Given the description of an element on the screen output the (x, y) to click on. 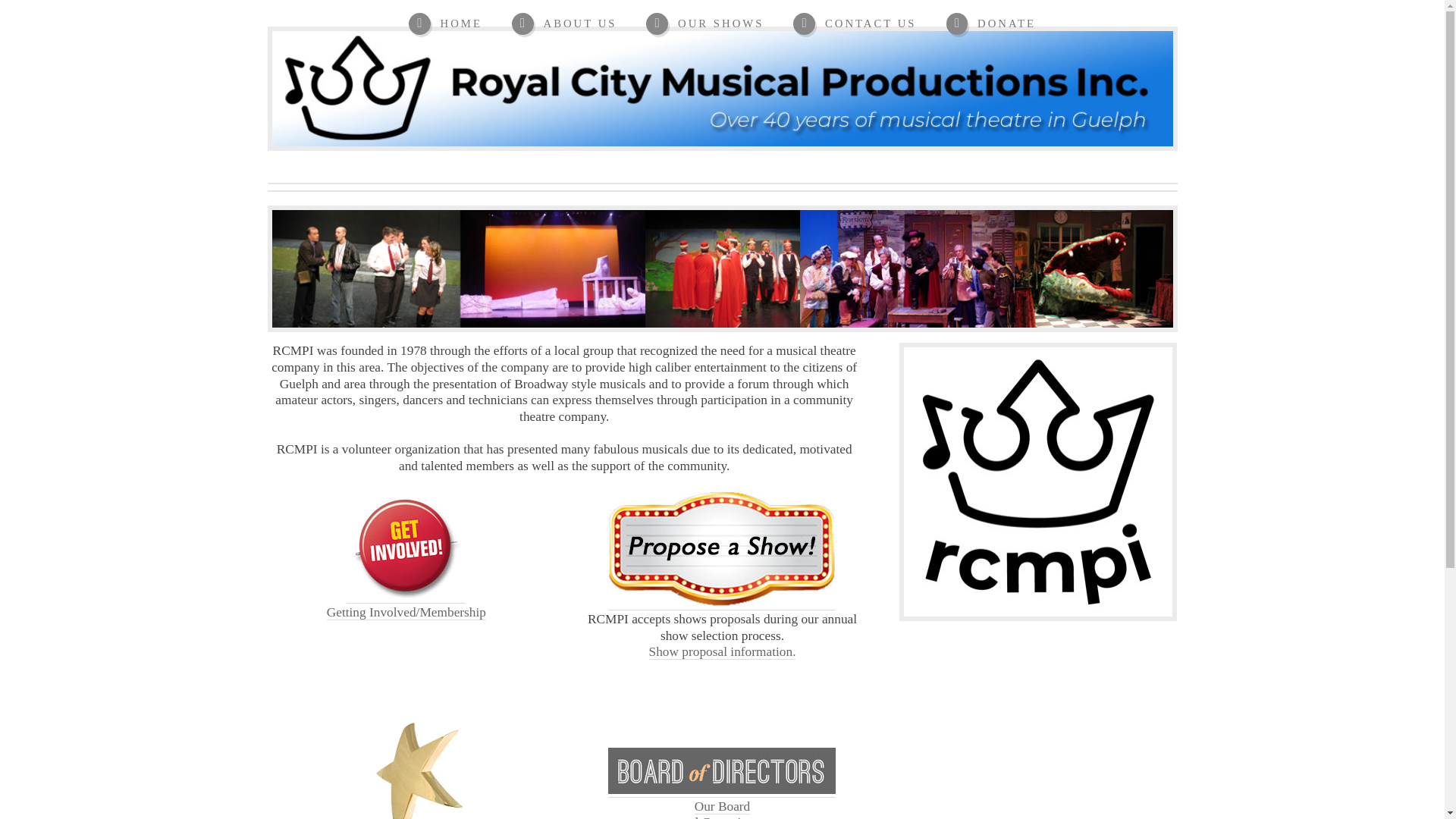
ABOUT US (722, 809)
DONATE (564, 24)
CONTACT US (990, 24)
HOME (854, 24)
OUR SHOWS (445, 24)
Show proposal information. (704, 24)
